Given the description of an element on the screen output the (x, y) to click on. 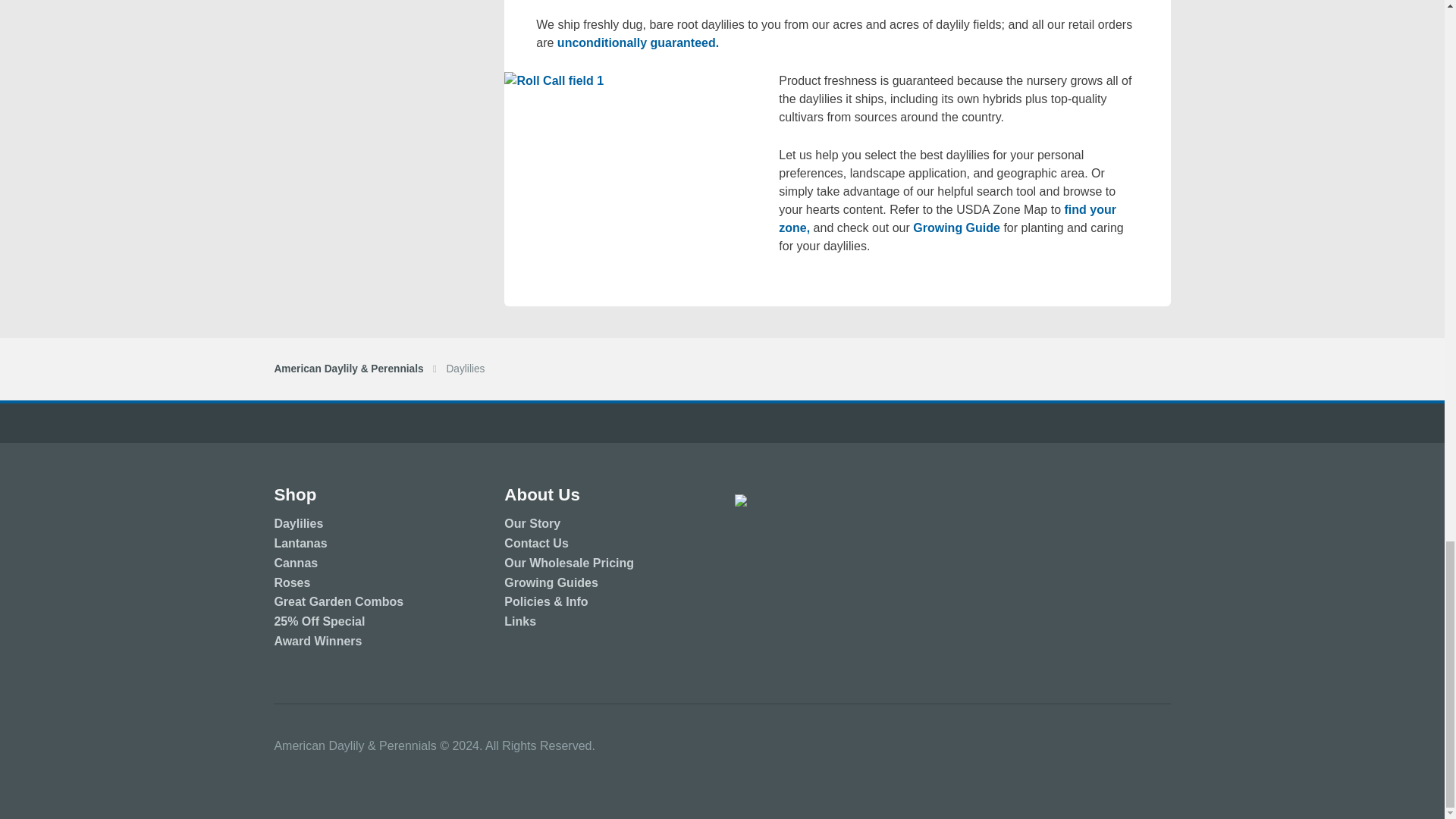
Our guarantee (638, 42)
Daylily Growing Guide (956, 227)
find your zone (947, 218)
